Given the description of an element on the screen output the (x, y) to click on. 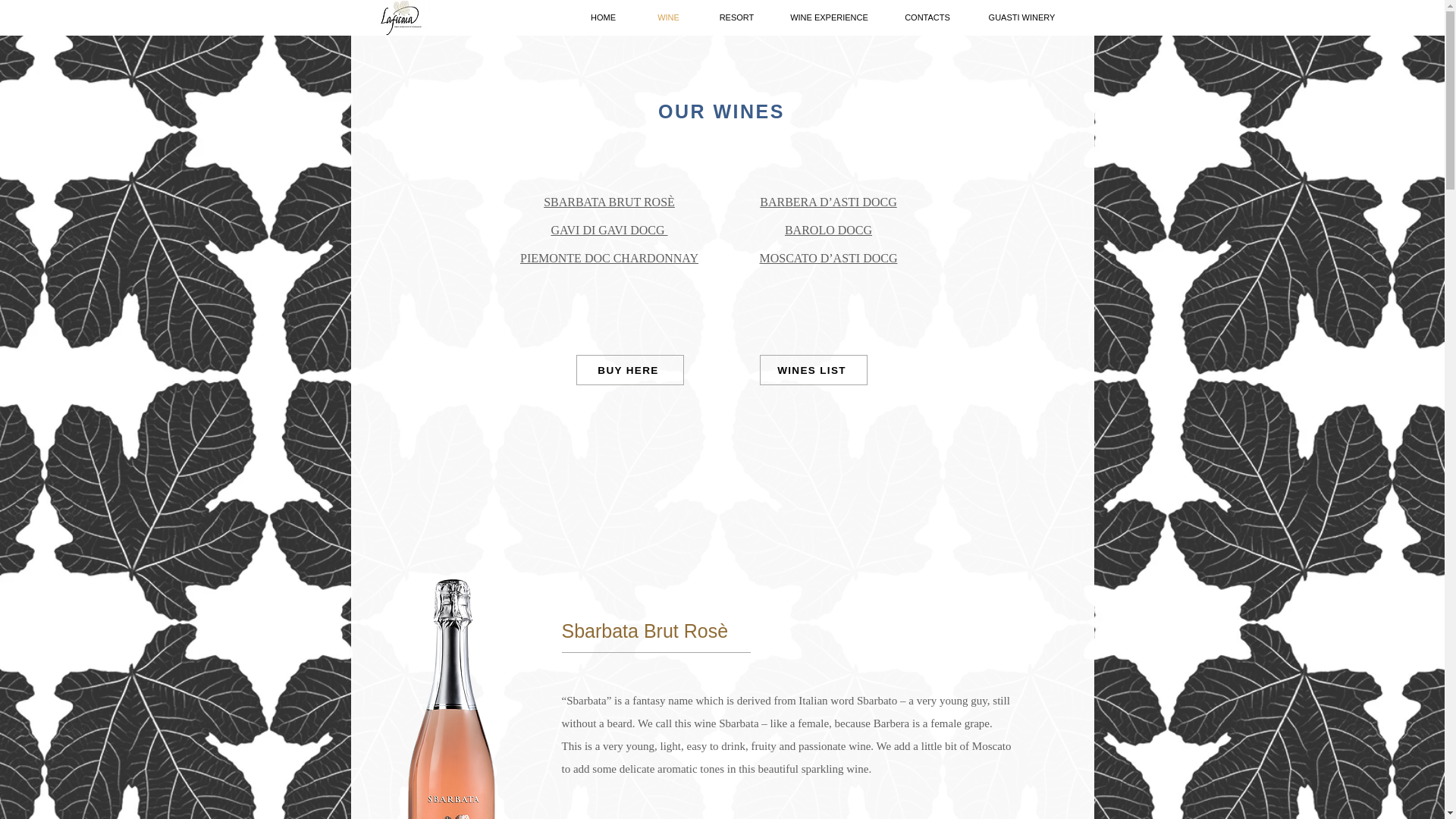
BUY HERE (630, 369)
PIEMONTE DOC CHARDONNAY (608, 257)
CONTACTS (927, 17)
GAVI DI GAVI DOCG  (608, 229)
BAROLO DOCG (828, 229)
RESORT (736, 17)
GUASTI WINERY (1021, 17)
WINE (668, 17)
WINE EXPERIENCE (829, 17)
WINES LIST (813, 369)
HOME (603, 17)
